Given the description of an element on the screen output the (x, y) to click on. 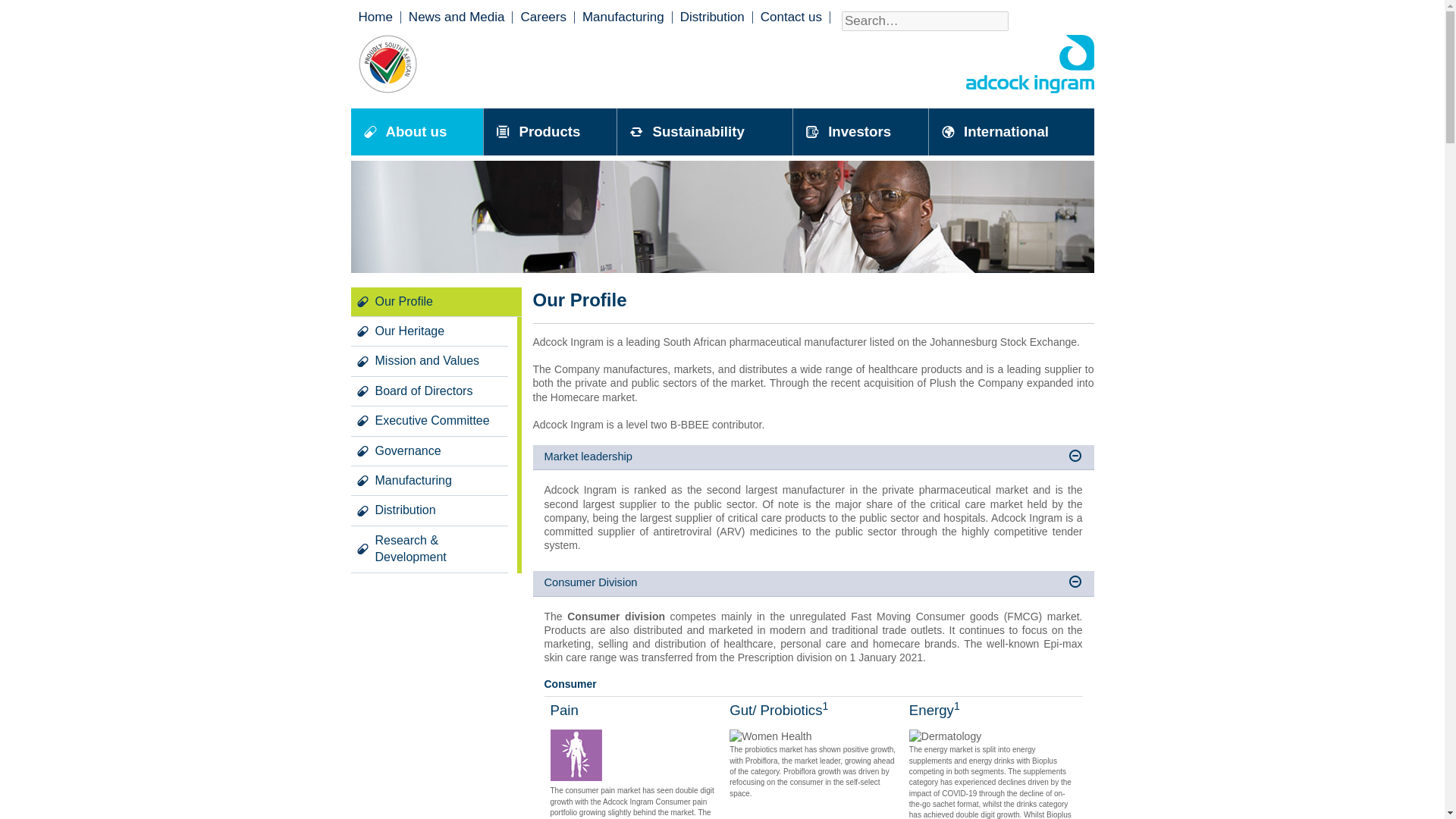
Careers (542, 17)
Home (374, 17)
News and Media (457, 17)
Investors (860, 131)
International (1010, 131)
Manufacturing (622, 17)
Distribution (428, 510)
Our Heritage (428, 331)
Contact us (791, 17)
Sustainability (704, 131)
Board of Directors (428, 391)
Executive Committee (428, 420)
About us (416, 131)
Distribution (711, 17)
Manufacturing (428, 481)
